Given the description of an element on the screen output the (x, y) to click on. 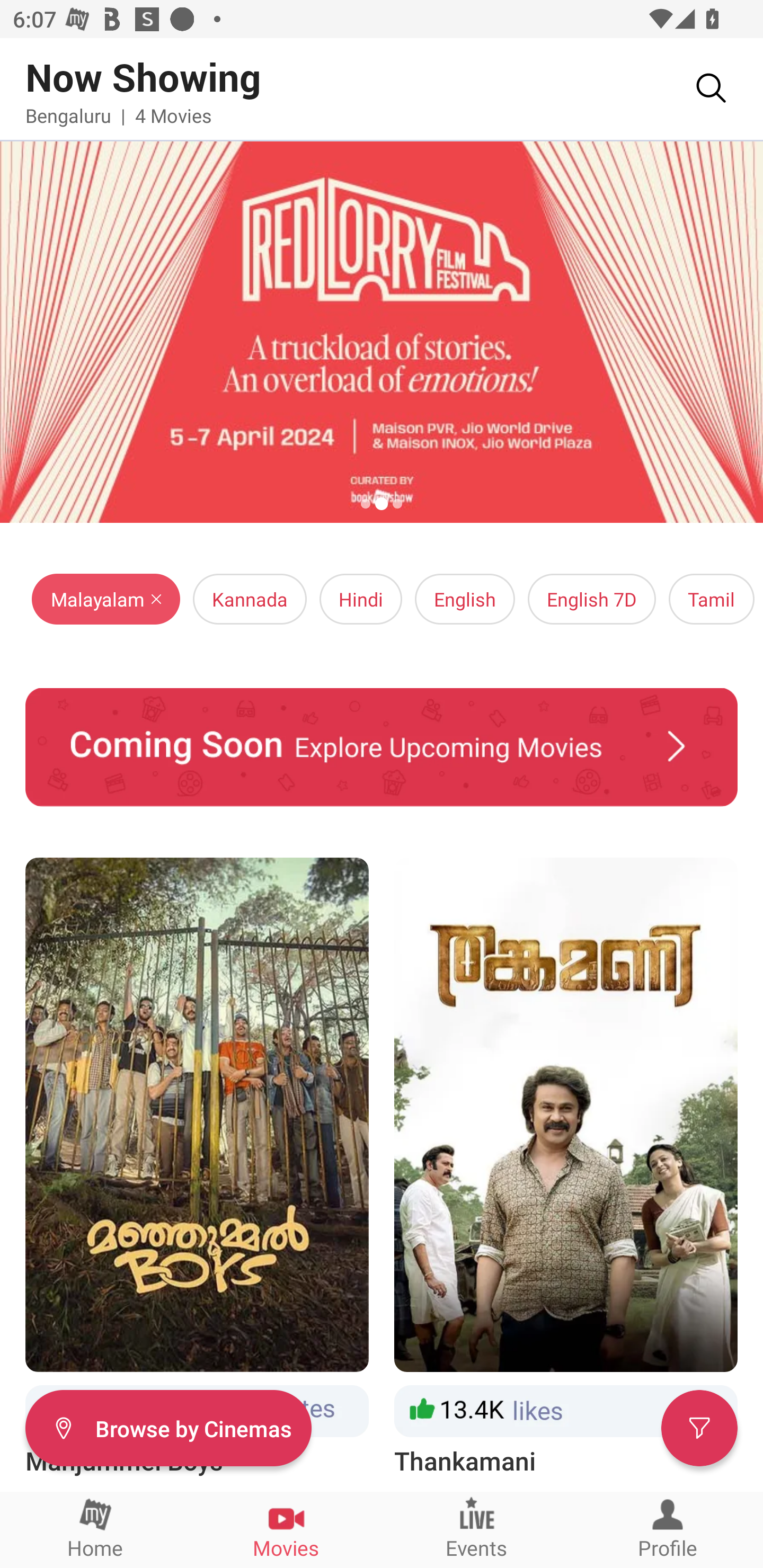
Bengaluru  |  4 Movies (118, 114)
Malayalam Close (106, 598)
Kannada (249, 598)
Hindi (360, 598)
English (465, 598)
English 7D (591, 598)
Tamil (711, 598)
Manjummel Boys (196, 1167)
Thankamani (565, 1167)
Filter Browse by Cinemas (168, 1427)
Filter (699, 1427)
Home (95, 1529)
Movies (285, 1529)
Events (476, 1529)
Profile (667, 1529)
